Given the description of an element on the screen output the (x, y) to click on. 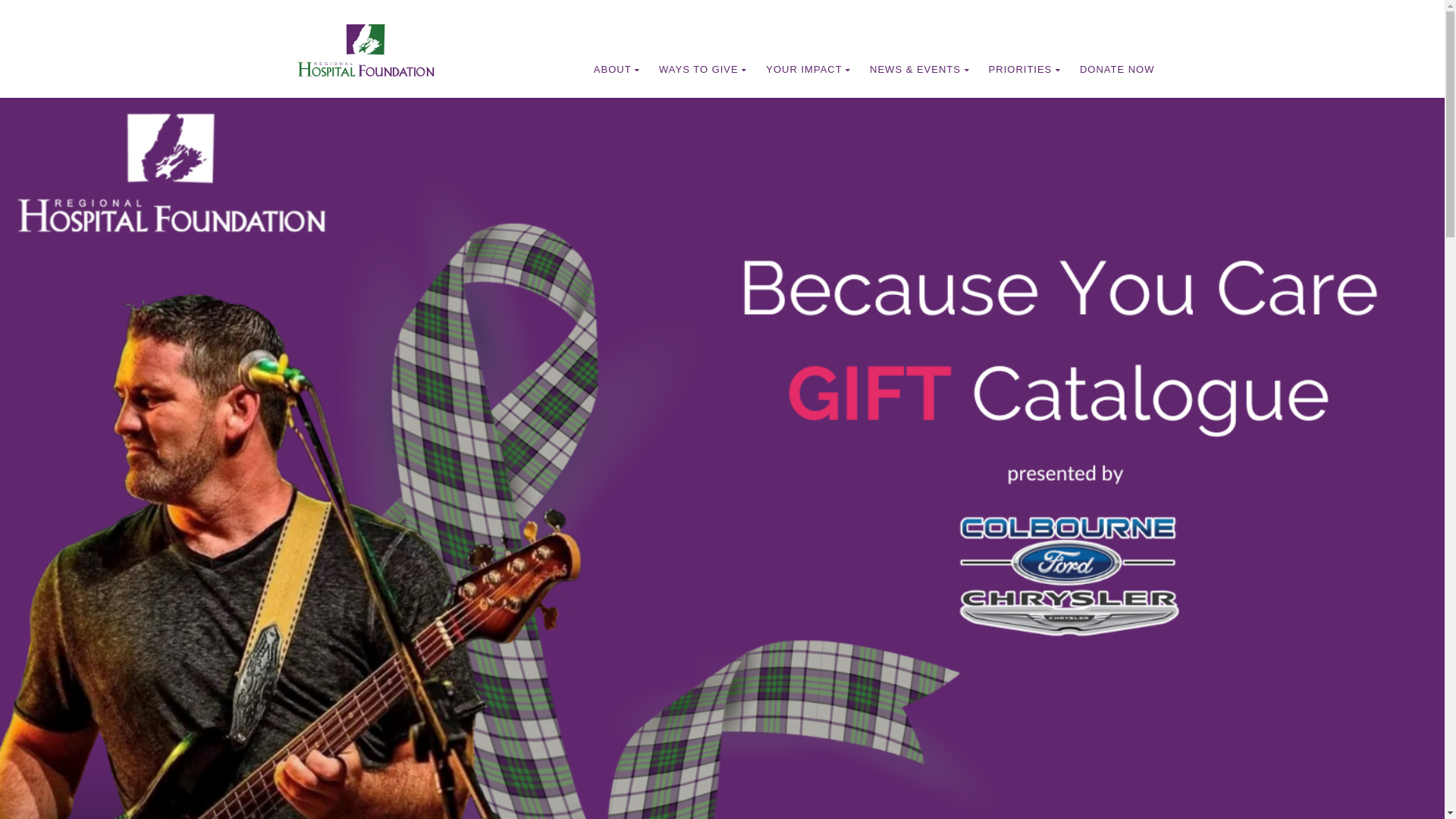
ABOUT Element type: text (616, 69)
NEWS & EVENTS Element type: text (919, 69)
DONATE NOW Element type: text (1116, 69)
WAYS TO GIVE Element type: text (702, 69)
YOUR IMPACT Element type: text (807, 69)
PRIORITIES Element type: text (1024, 69)
